Given the description of an element on the screen output the (x, y) to click on. 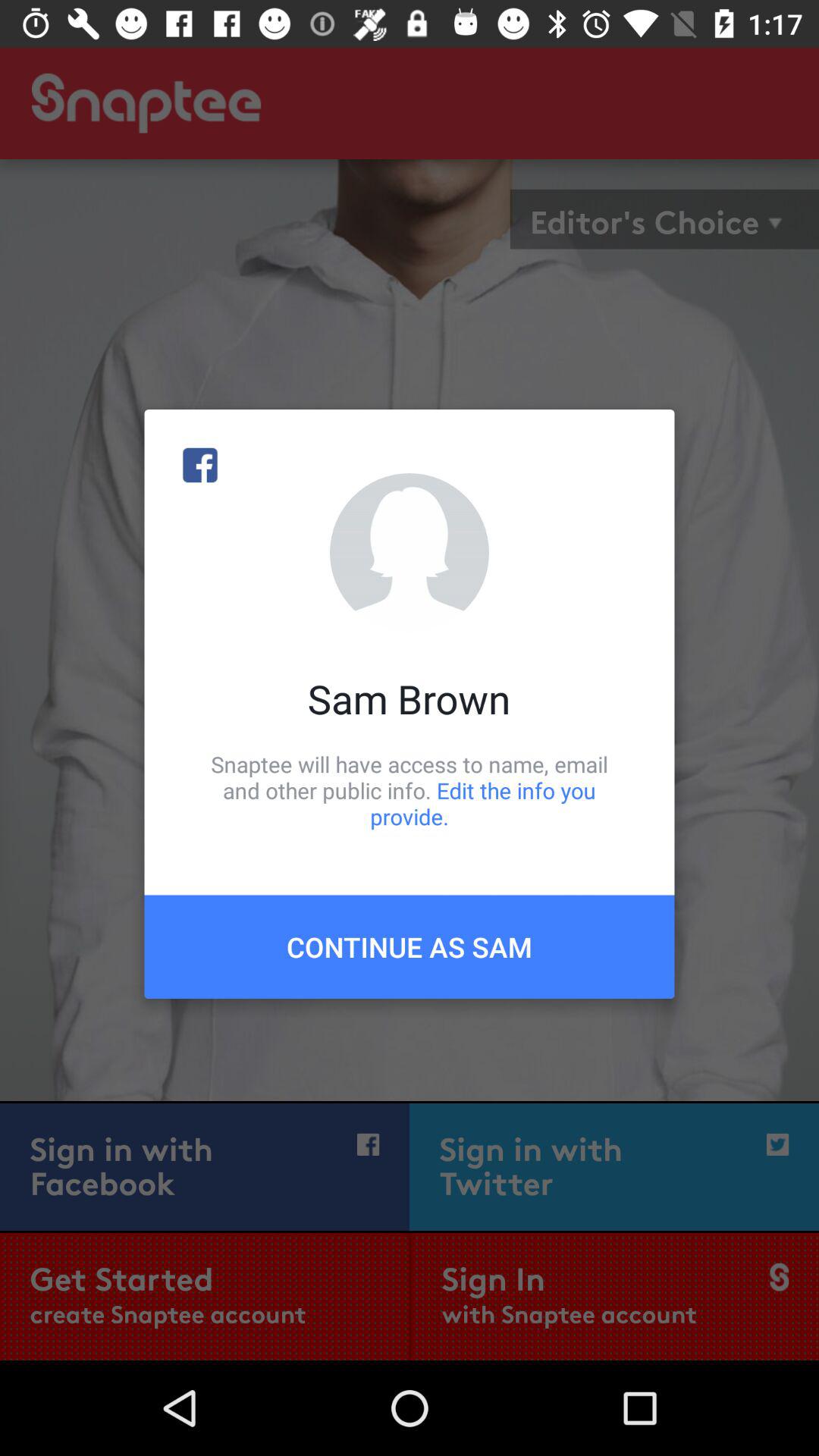
open the icon above the continue as sam item (409, 790)
